Given the description of an element on the screen output the (x, y) to click on. 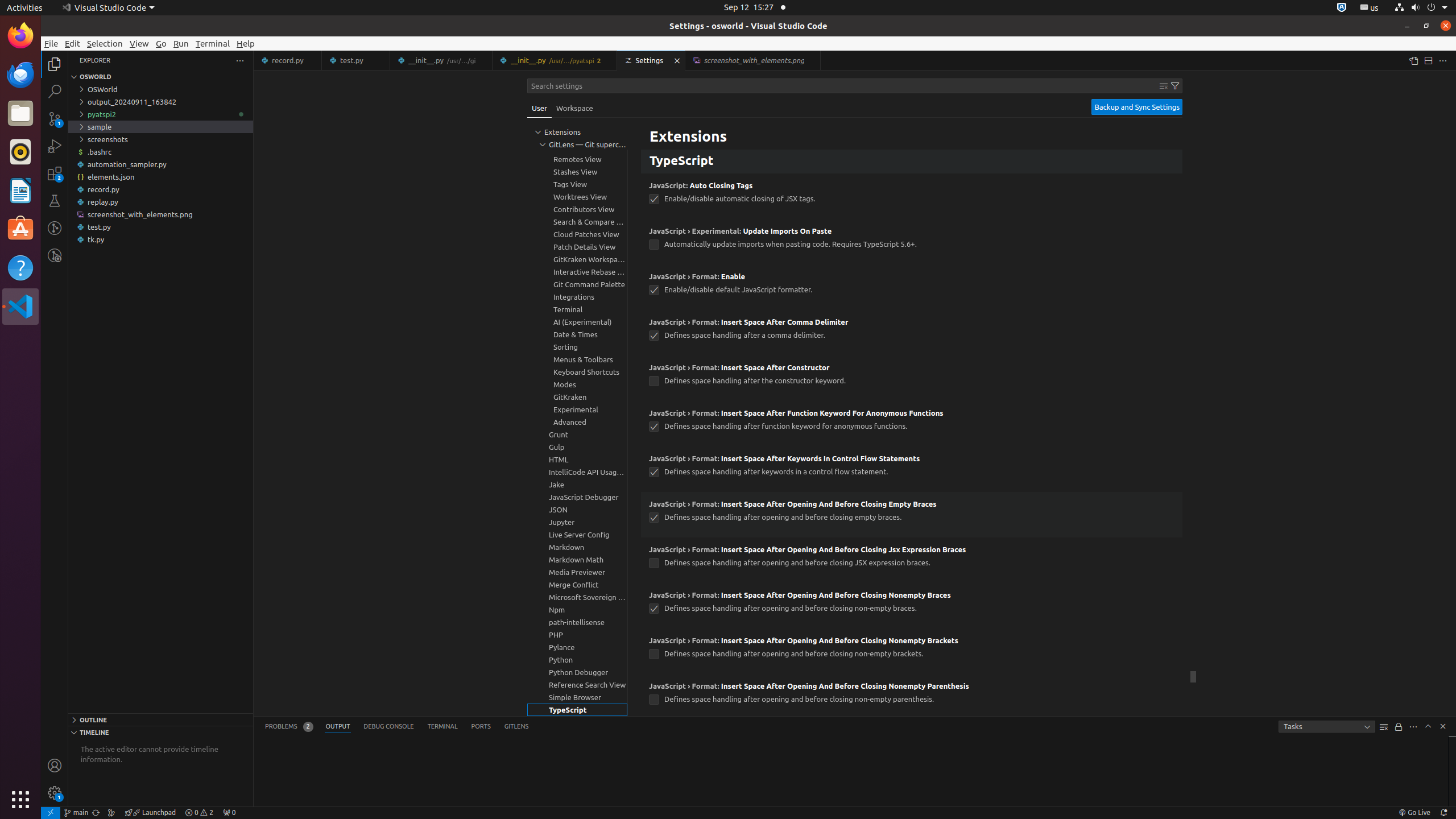
Settings Element type: page-tab (651, 60)
JavaScript › Experimental Update Imports On Paste. Automatically update imports when pasting code. Requires TypeScript 5.6+.  Element type: tree-item (911, 241)
test.py Element type: tree-item (160, 226)
javascript.format.insertSpaceAfterCommaDelimiter Element type: check-box (653, 335)
